Given the description of an element on the screen output the (x, y) to click on. 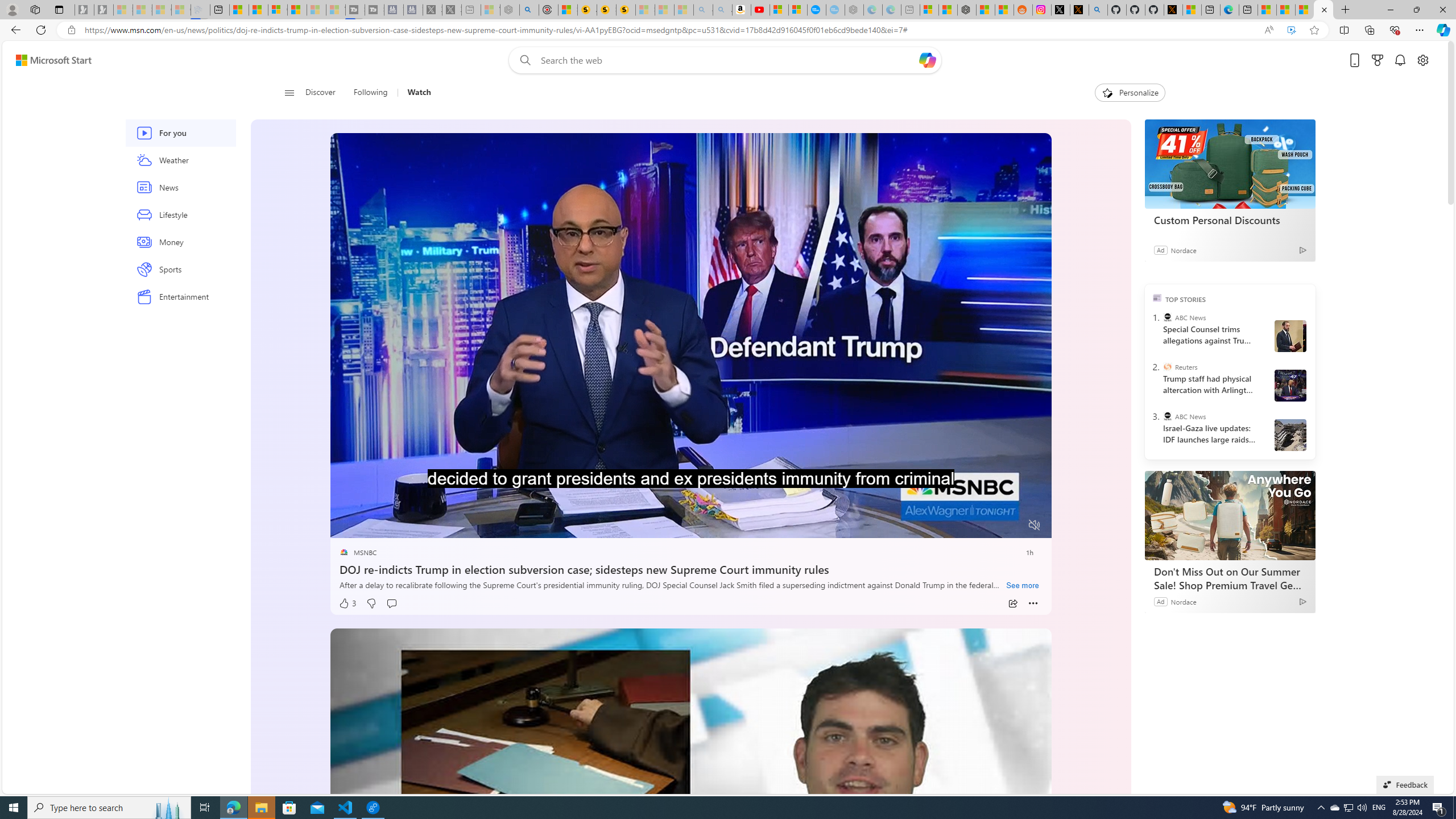
Open Copilot (927, 59)
Nordace - Summer Adventures 2024 - Sleeping (509, 9)
New Tab (1346, 9)
The most popular Google 'how to' searches - Sleeping (835, 9)
Opinion: Op-Ed and Commentary - USA TODAY (816, 9)
Nordace - Duffels (966, 9)
Wildlife - MSN - Sleeping (490, 9)
Address and search bar (669, 29)
New tab - Sleeping (910, 9)
More (1033, 603)
